Given the description of an element on the screen output the (x, y) to click on. 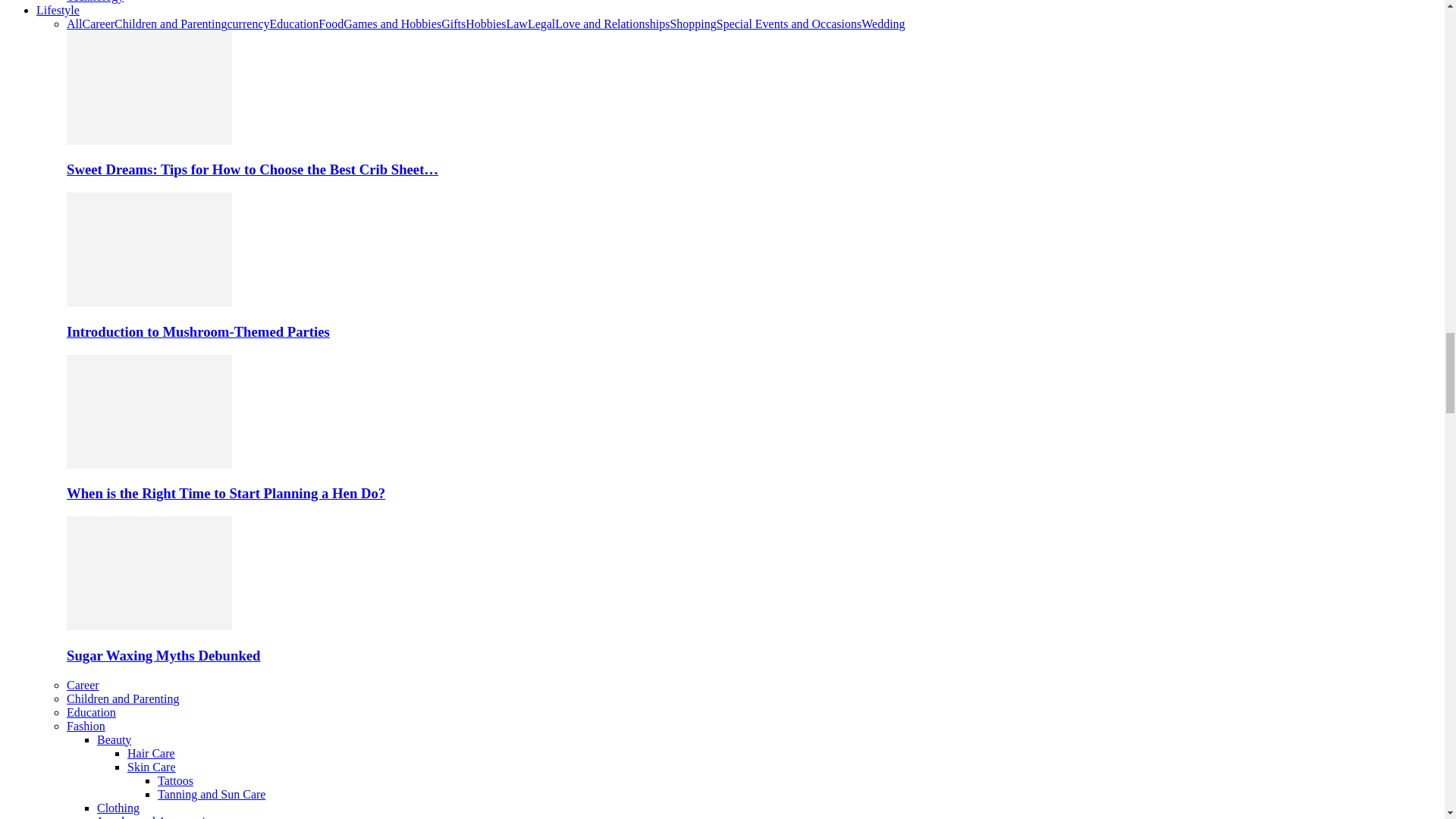
Introduction to Mushroom-Themed Parties (148, 301)
